Given the description of an element on the screen output the (x, y) to click on. 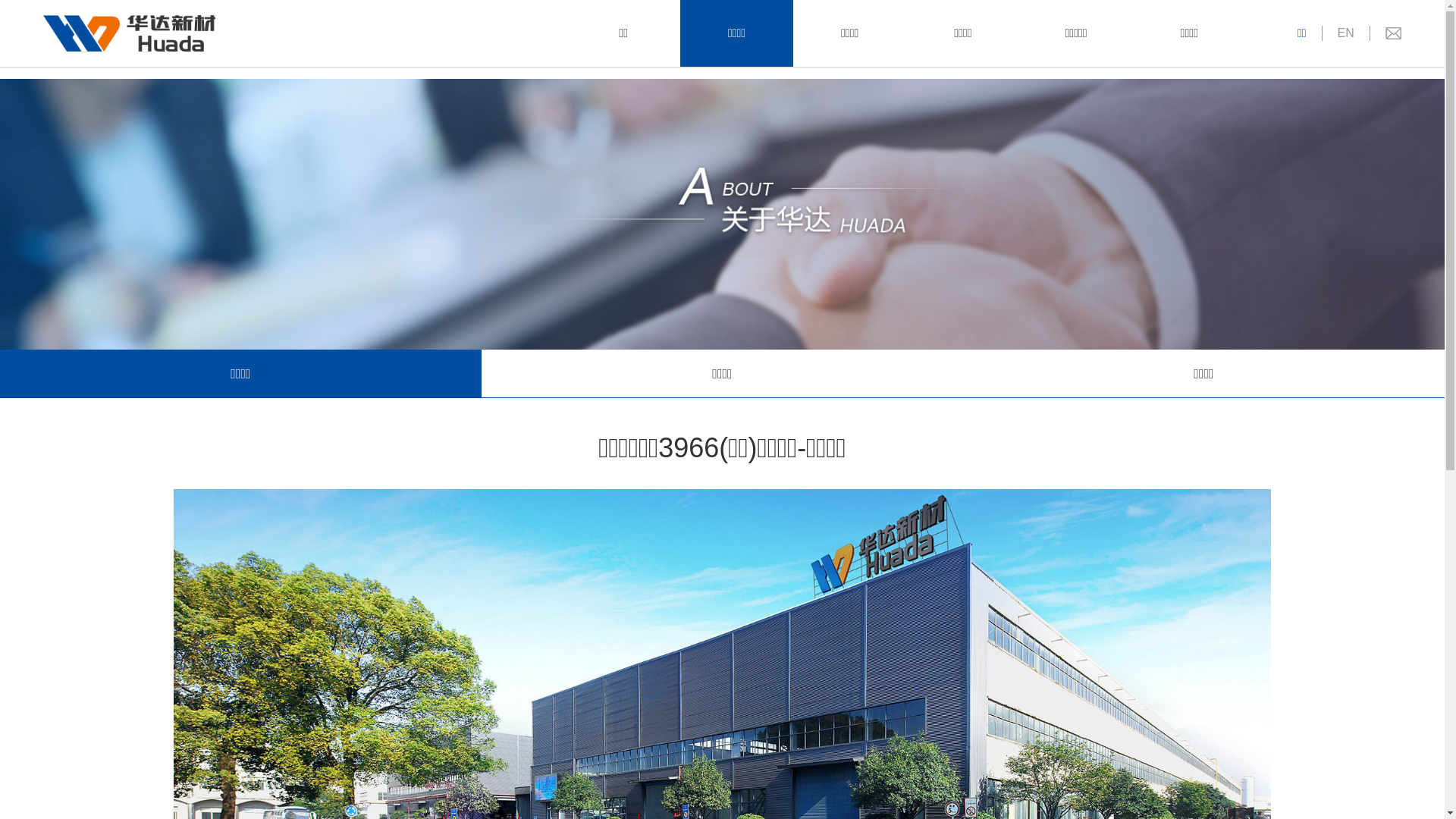
EN Element type: text (1345, 32)
